Given the description of an element on the screen output the (x, y) to click on. 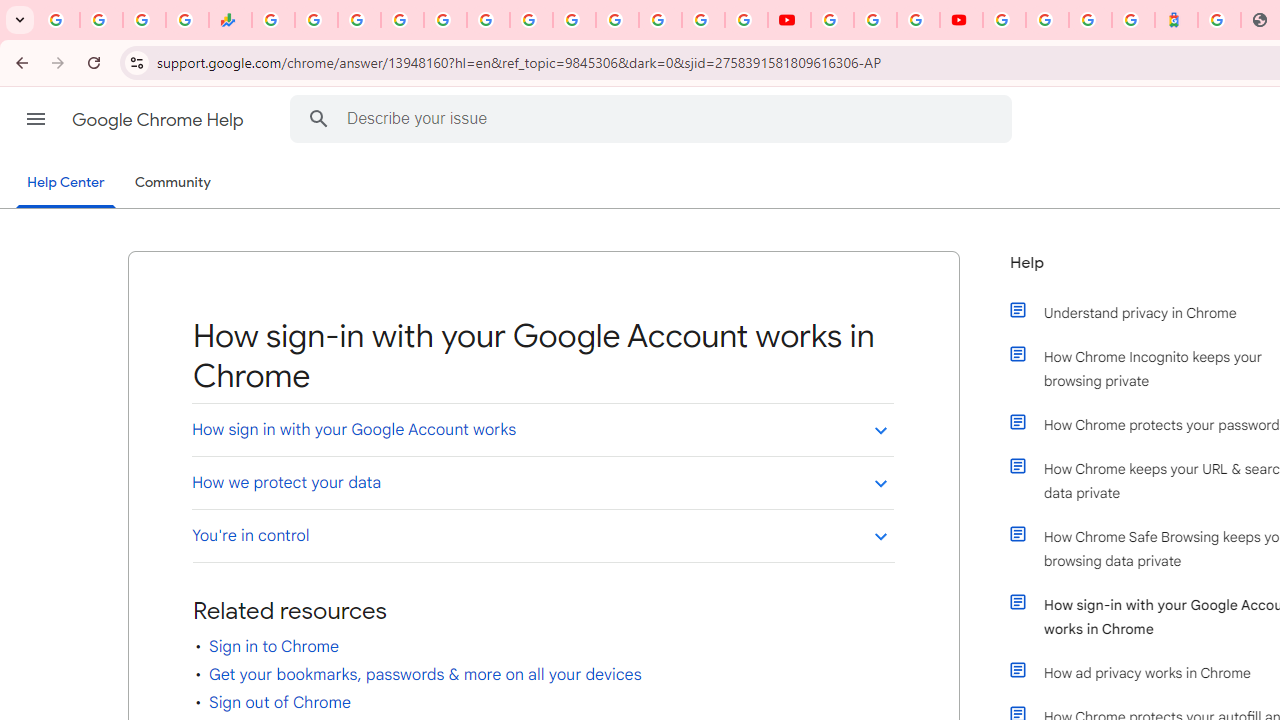
Community (171, 183)
Search Help Center (318, 118)
Help Center (65, 183)
YouTube (832, 20)
Google Chrome Help (159, 119)
How we protect your data (542, 482)
Sign in - Google Accounts (402, 20)
Sign out of Chrome (279, 702)
